Given the description of an element on the screen output the (x, y) to click on. 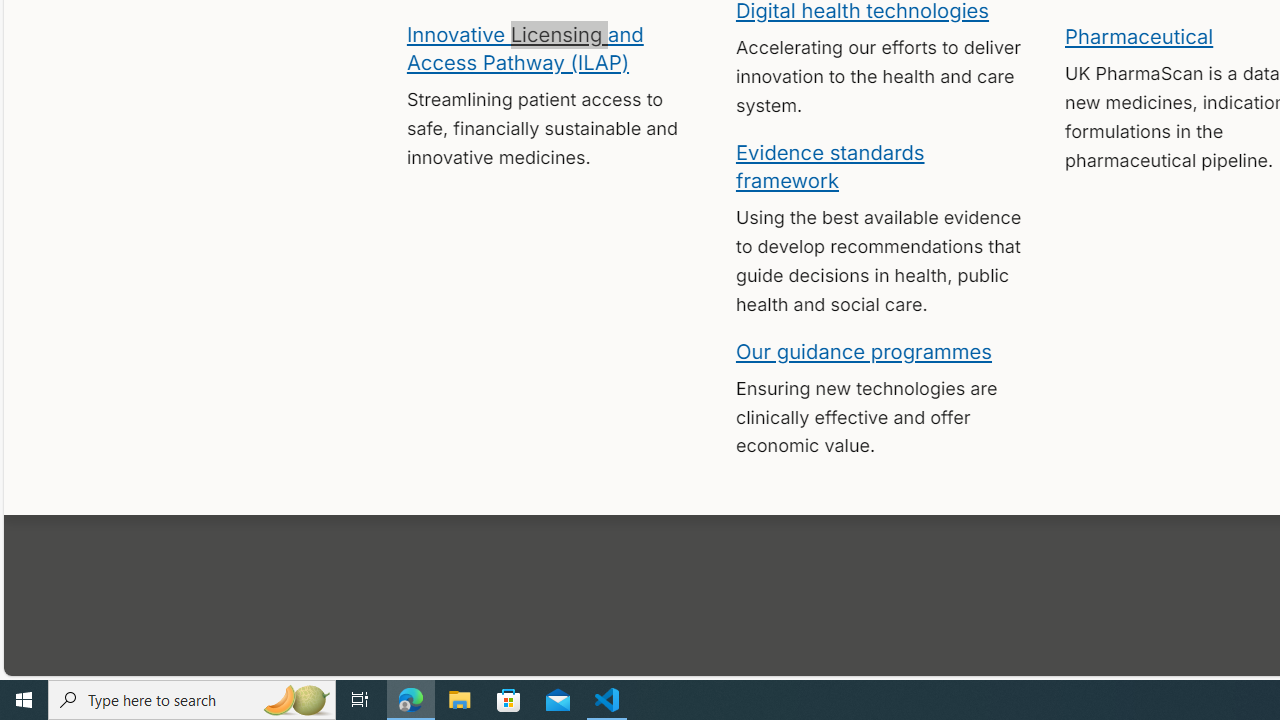
Evidence standards framework (829, 165)
Innovative Licensing and Access Pathway (ILAP) (524, 47)
Pharmaceutical (1138, 35)
Our guidance programmes (863, 350)
